Given the description of an element on the screen output the (x, y) to click on. 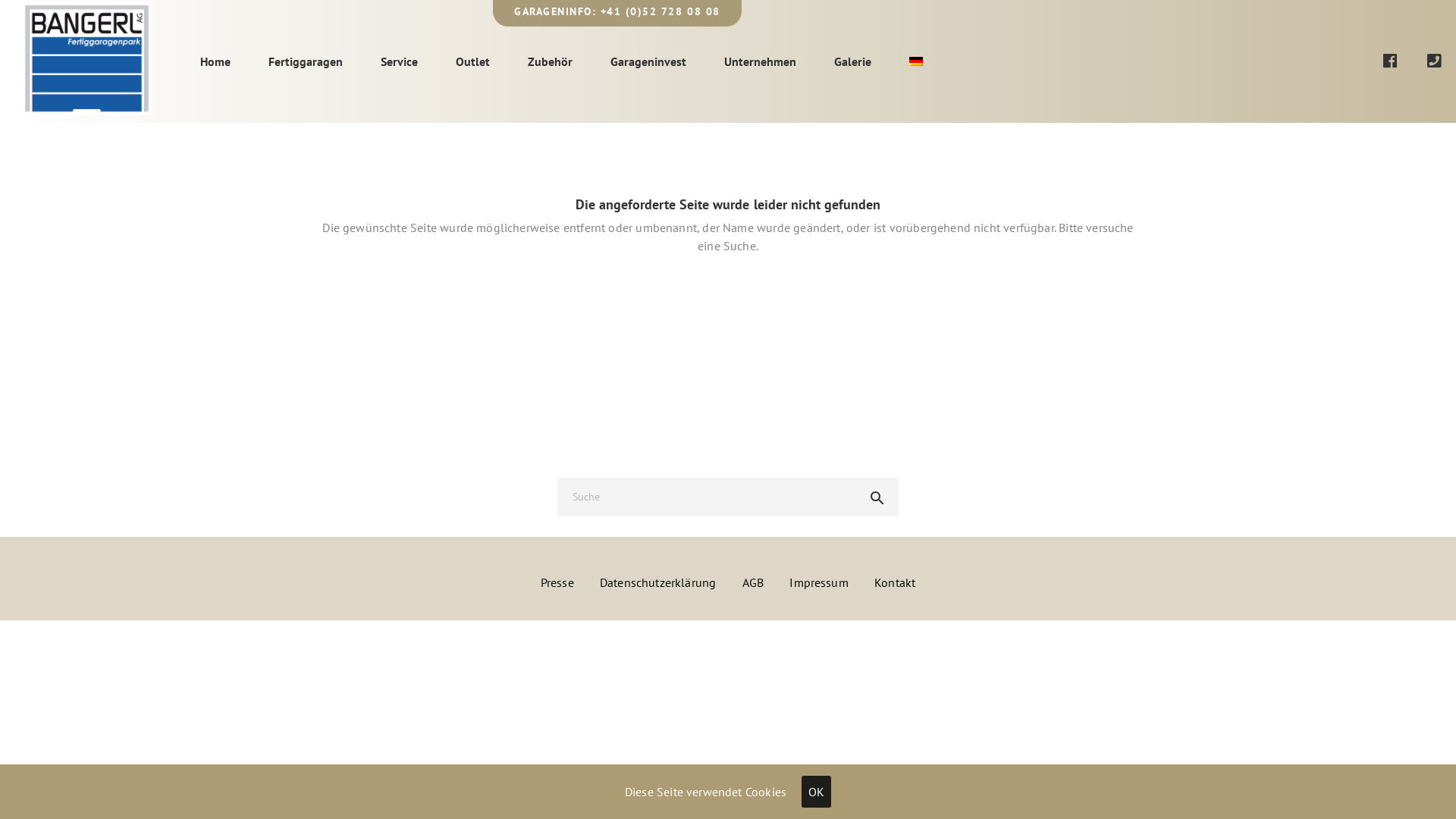
Home Element type: text (215, 61)
Facebook Element type: text (1411, 59)
Fertiggaragen Element type: text (305, 61)
Presse Element type: text (557, 581)
Impressum Element type: text (818, 581)
OK Element type: text (816, 791)
Outlet Element type: text (472, 61)
Service Element type: text (398, 61)
Unternehmen Element type: text (760, 61)
AGB Element type: text (752, 581)
Kontakt Element type: text (894, 581)
Galerie Element type: text (852, 61)
Garageninvest Element type: text (648, 61)
